Given the description of an element on the screen output the (x, y) to click on. 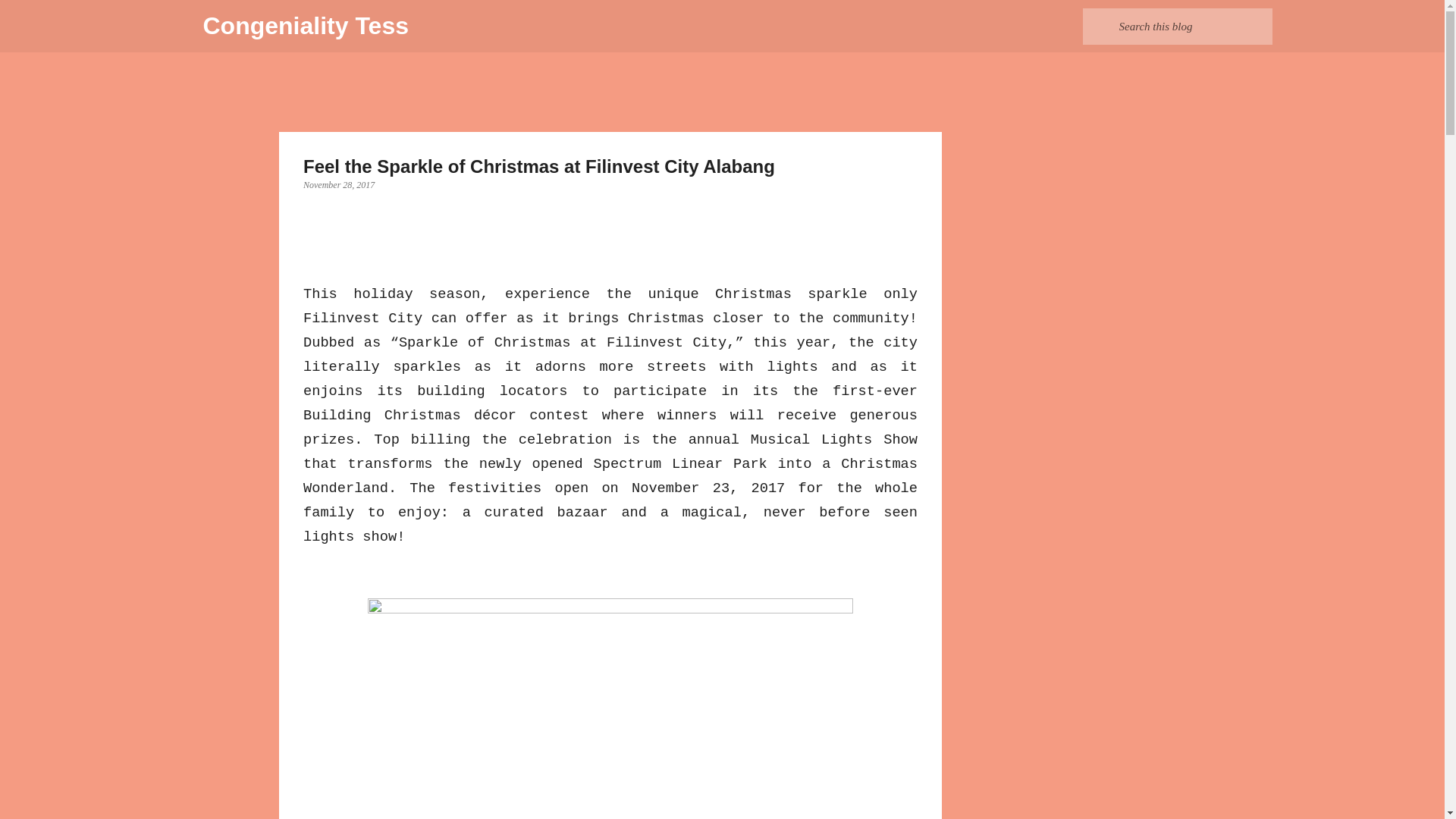
November 28, 2017 (338, 184)
permanent link (338, 184)
Congeniality Tess (306, 25)
